Given the description of an element on the screen output the (x, y) to click on. 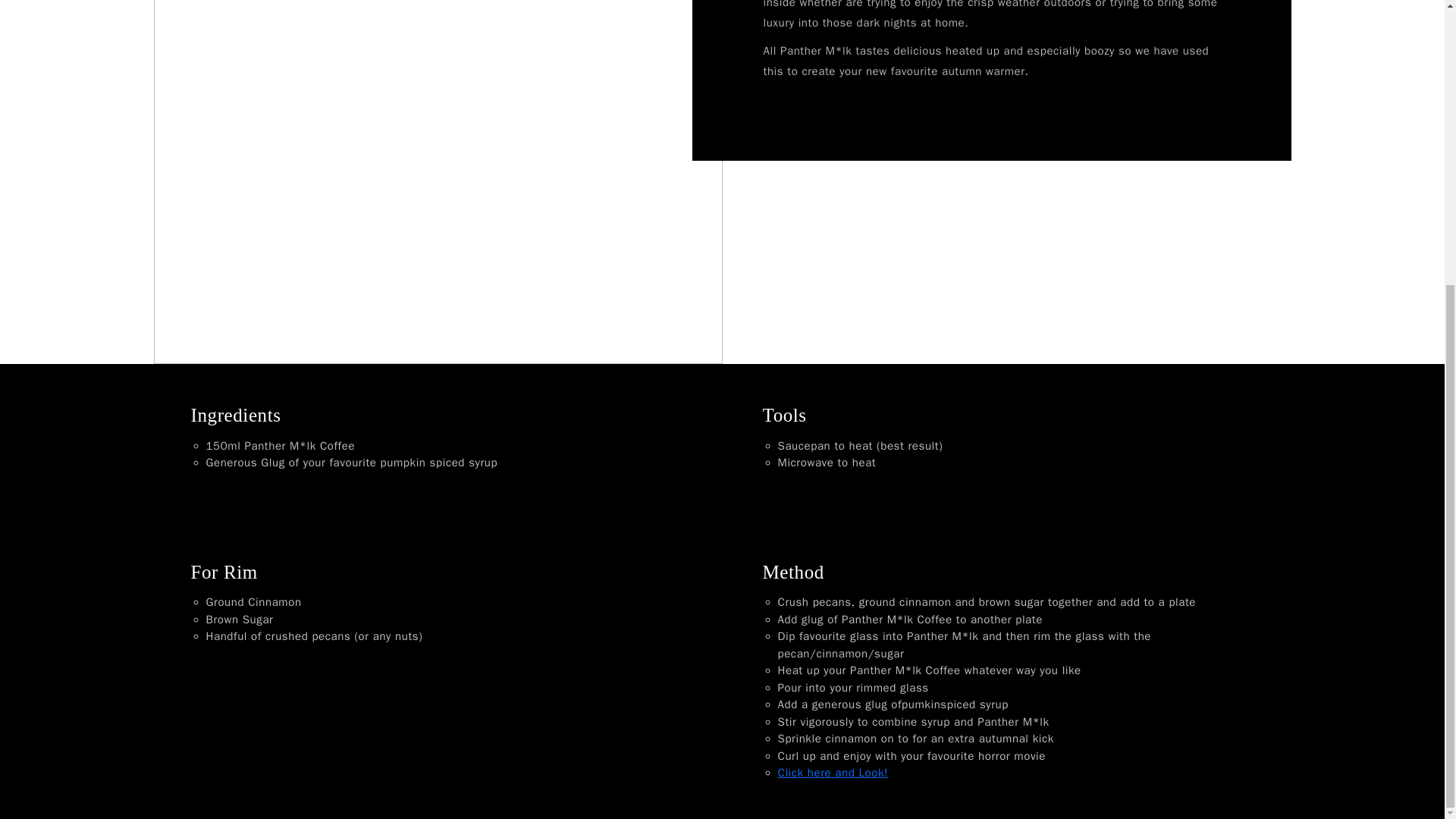
Panther Spiked Pumpkin Latte (832, 772)
Click here and Look! (832, 772)
